Given the description of an element on the screen output the (x, y) to click on. 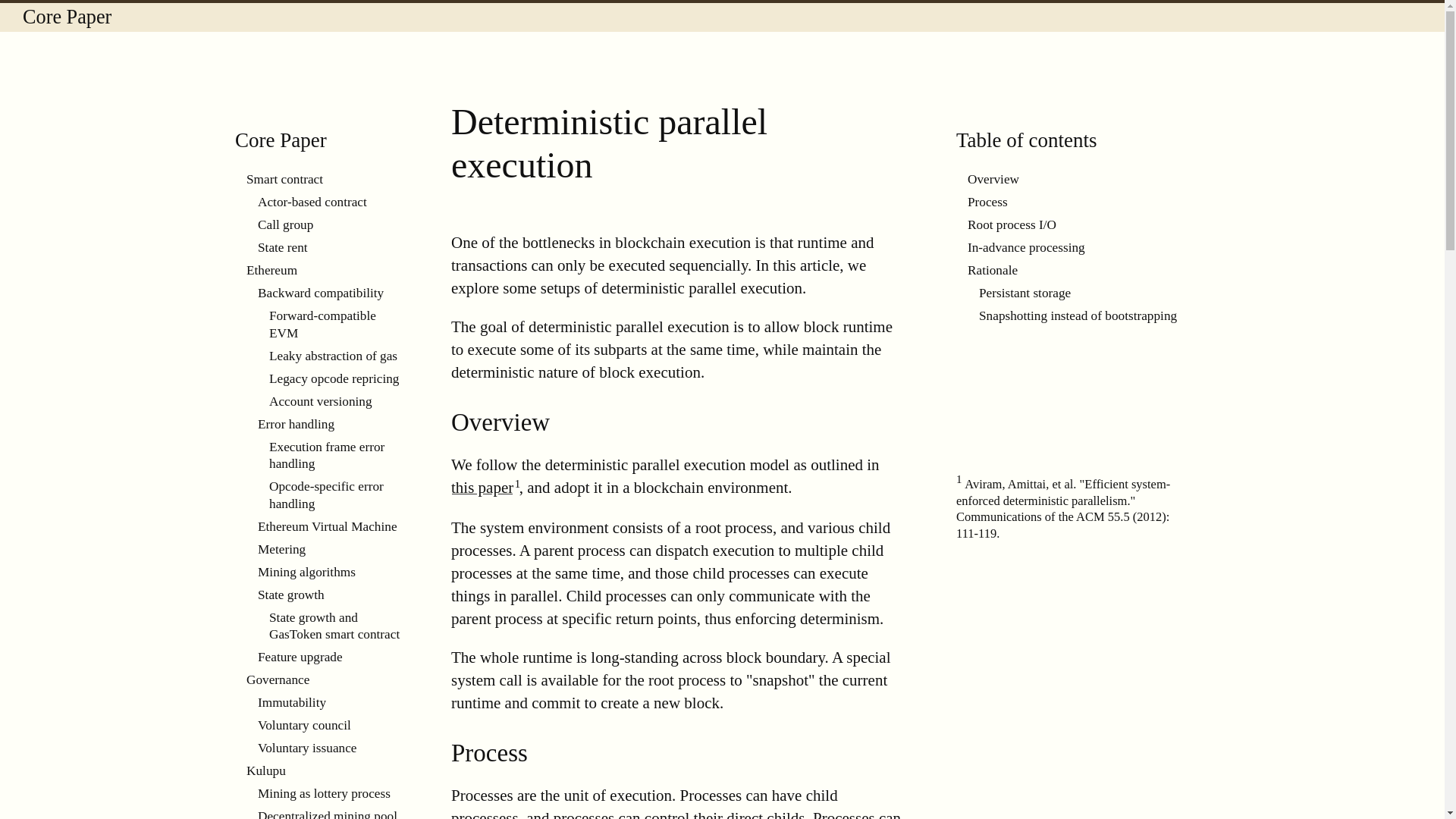
Metering (331, 549)
Forward-compatible EVM (337, 324)
Account versioning (337, 401)
Mining algorithms (331, 572)
Core Paper (67, 16)
Feature upgrade (331, 657)
Voluntary issuance (331, 748)
Call group (331, 224)
Legacy opcode repricing (337, 378)
Decentralized mining pool (331, 812)
Actor-based contract (331, 201)
Core Paper (280, 139)
Leaky abstraction of gas (337, 355)
Voluntary council (331, 725)
Error handling (331, 424)
